Given the description of an element on the screen output the (x, y) to click on. 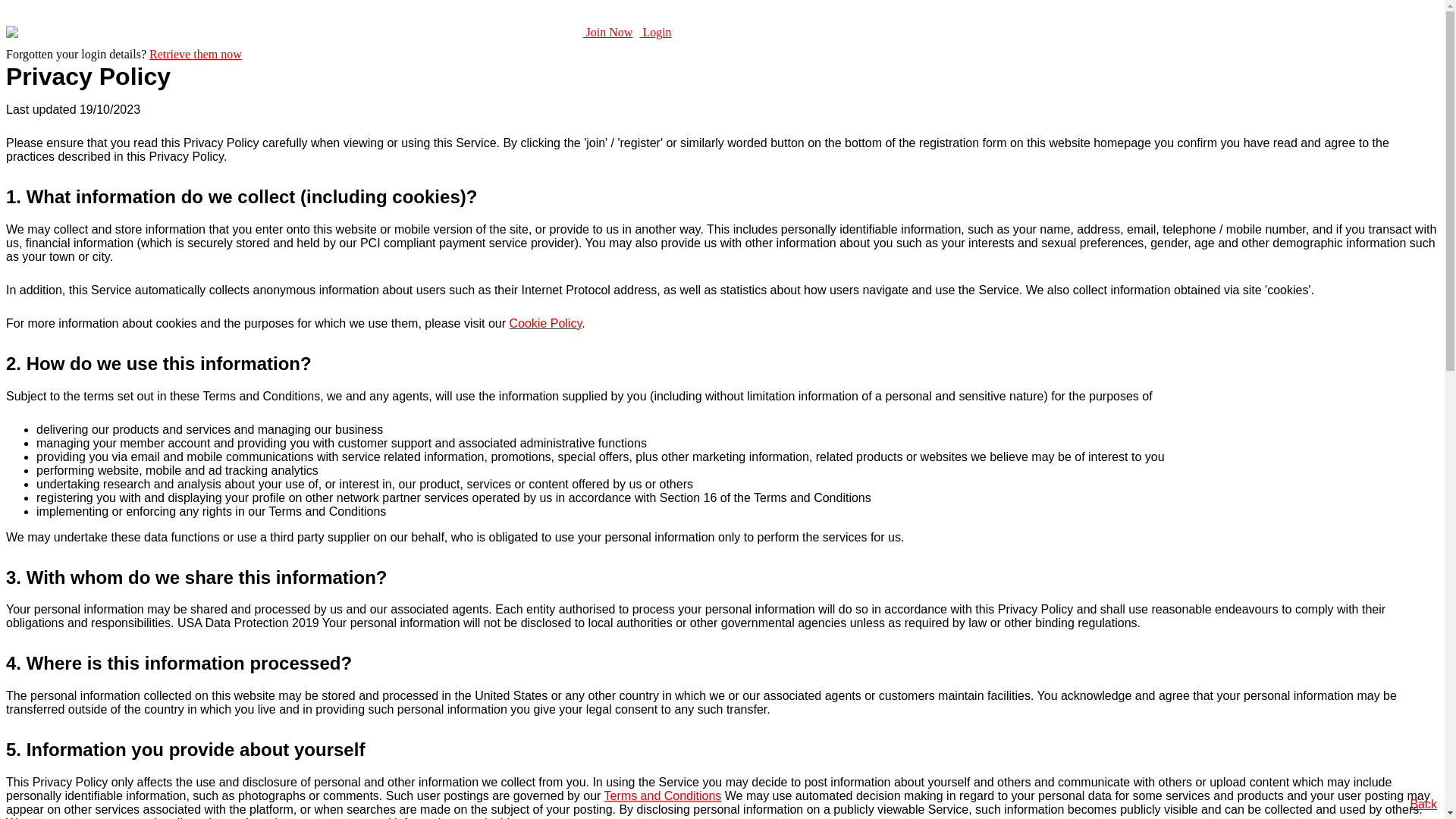
 Login Element type: text (655, 31)
Cookie Policy Element type: text (544, 322)
Back Element type: text (1423, 803)
 Join Now Element type: text (608, 31)
Retrieve them now Element type: text (195, 53)
Terms and Conditions Element type: text (662, 795)
